Given the description of an element on the screen output the (x, y) to click on. 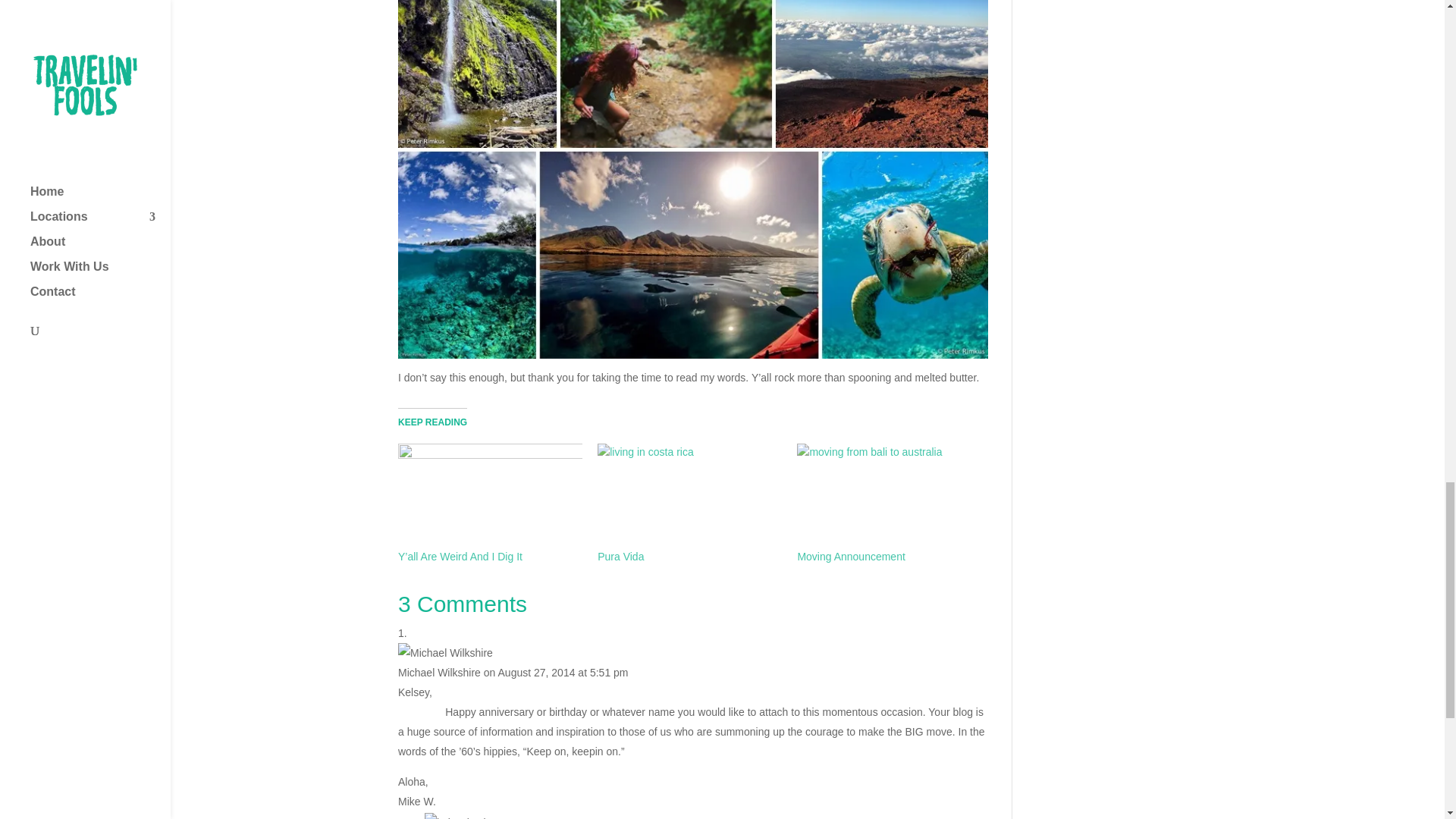
Pura Vida (619, 556)
Moving Announcement (850, 556)
Pura Vida (688, 495)
Moving Announcement (888, 495)
